Given the description of an element on the screen output the (x, y) to click on. 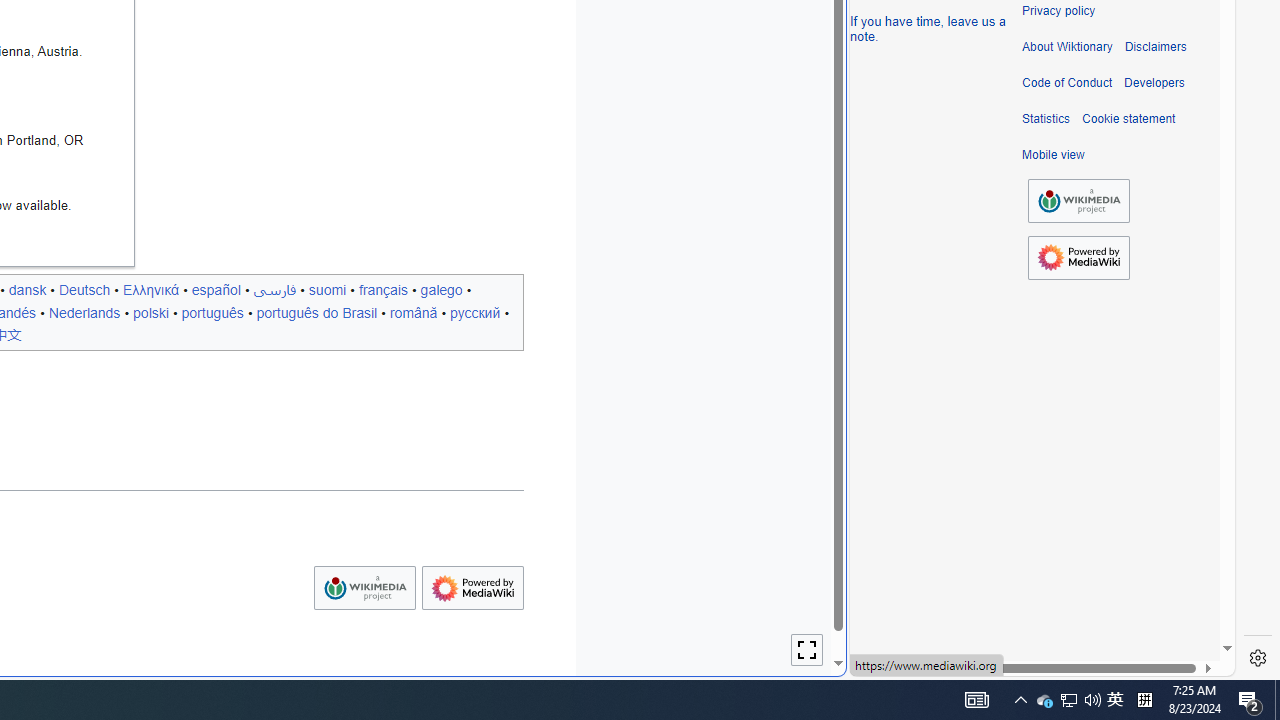
Wikimedia Foundation (1078, 201)
polski (150, 312)
Powered by MediaWiki (1078, 257)
AutomationID: footer-copyrightico (1078, 200)
